Given the description of an element on the screen output the (x, y) to click on. 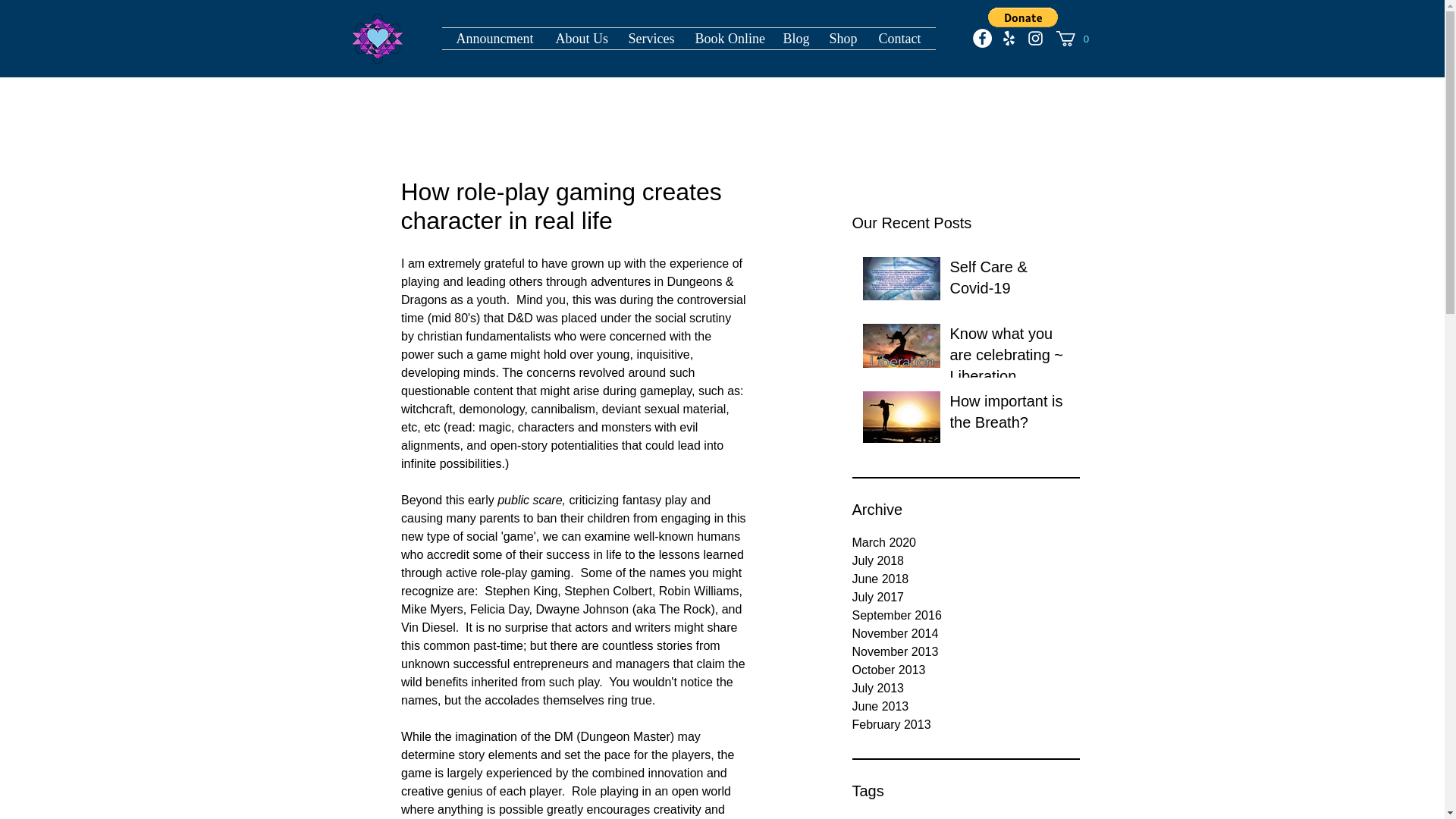
July 2018 (965, 561)
0 (1074, 38)
Blog (794, 38)
Book Online (727, 38)
July 2013 (965, 688)
March 2020 (965, 542)
Contact (900, 38)
Services (650, 38)
July 2017 (965, 597)
November 2014 (965, 633)
